Given the description of an element on the screen output the (x, y) to click on. 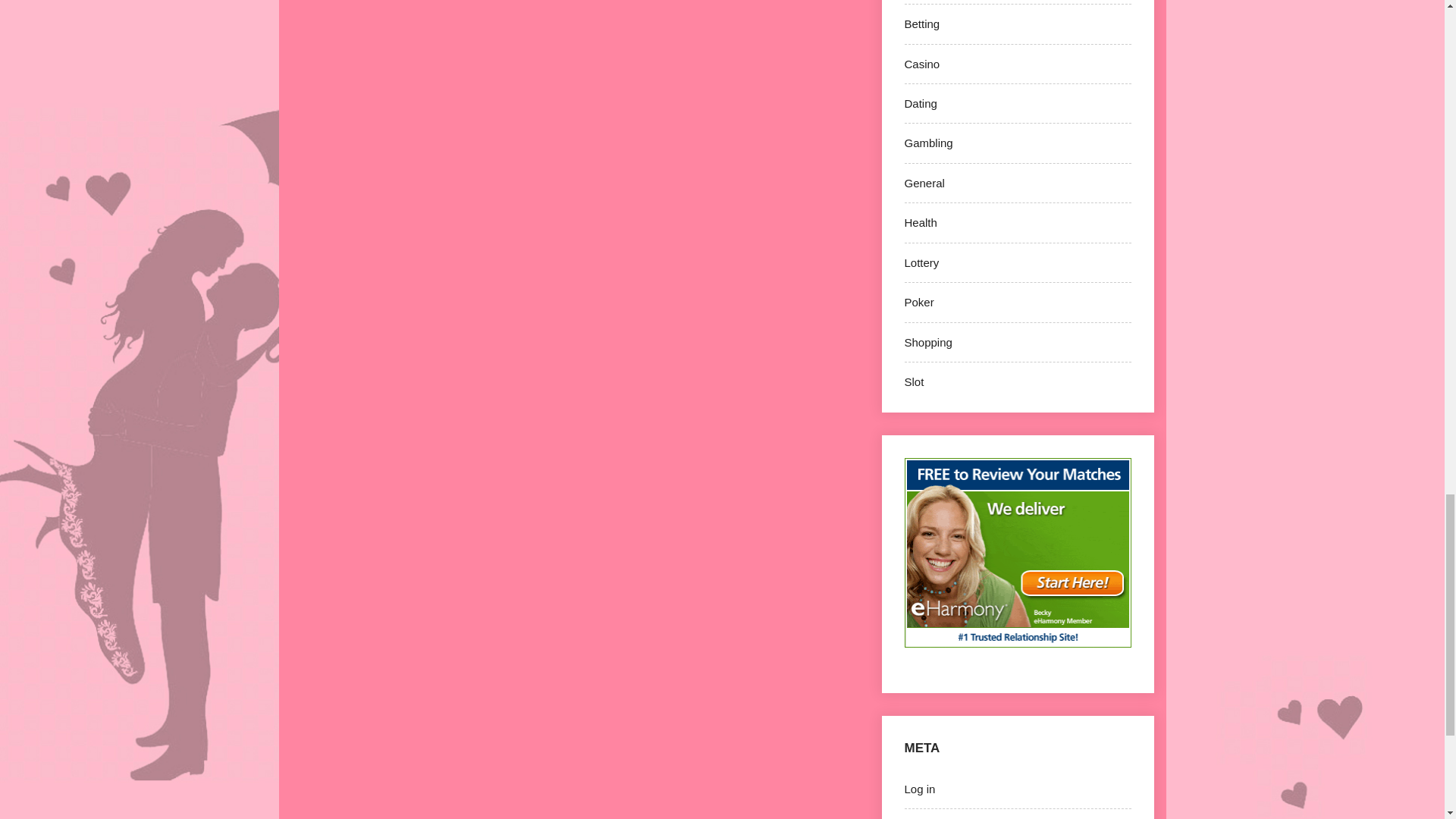
Lottery (921, 262)
Casino (921, 63)
Poker (918, 301)
Dating (920, 103)
Betting (921, 23)
Health (920, 222)
Slot (913, 381)
Gambling (928, 142)
Shopping (928, 341)
General (923, 182)
